Given the description of an element on the screen output the (x, y) to click on. 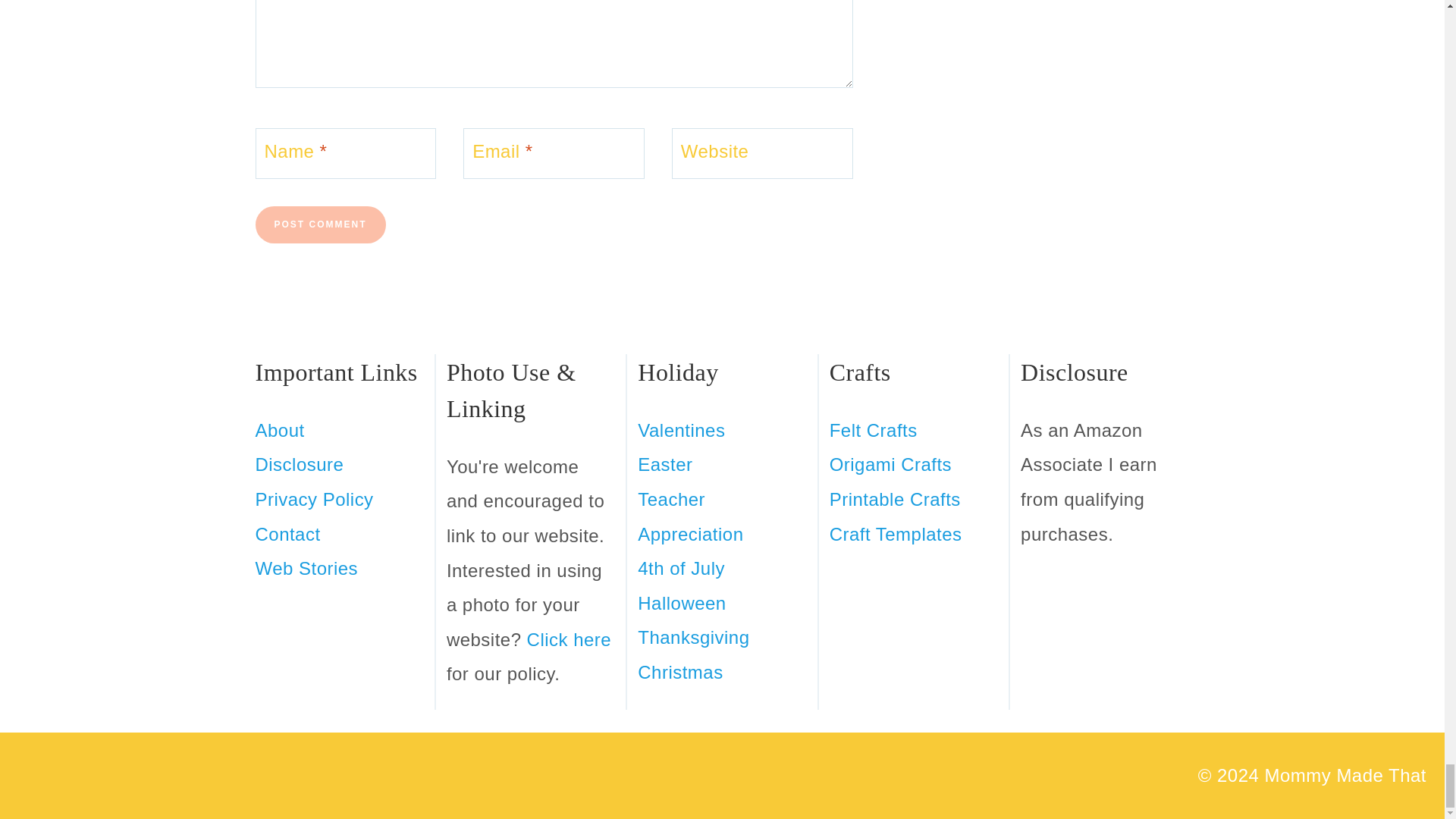
Post Comment (319, 224)
